Given the description of an element on the screen output the (x, y) to click on. 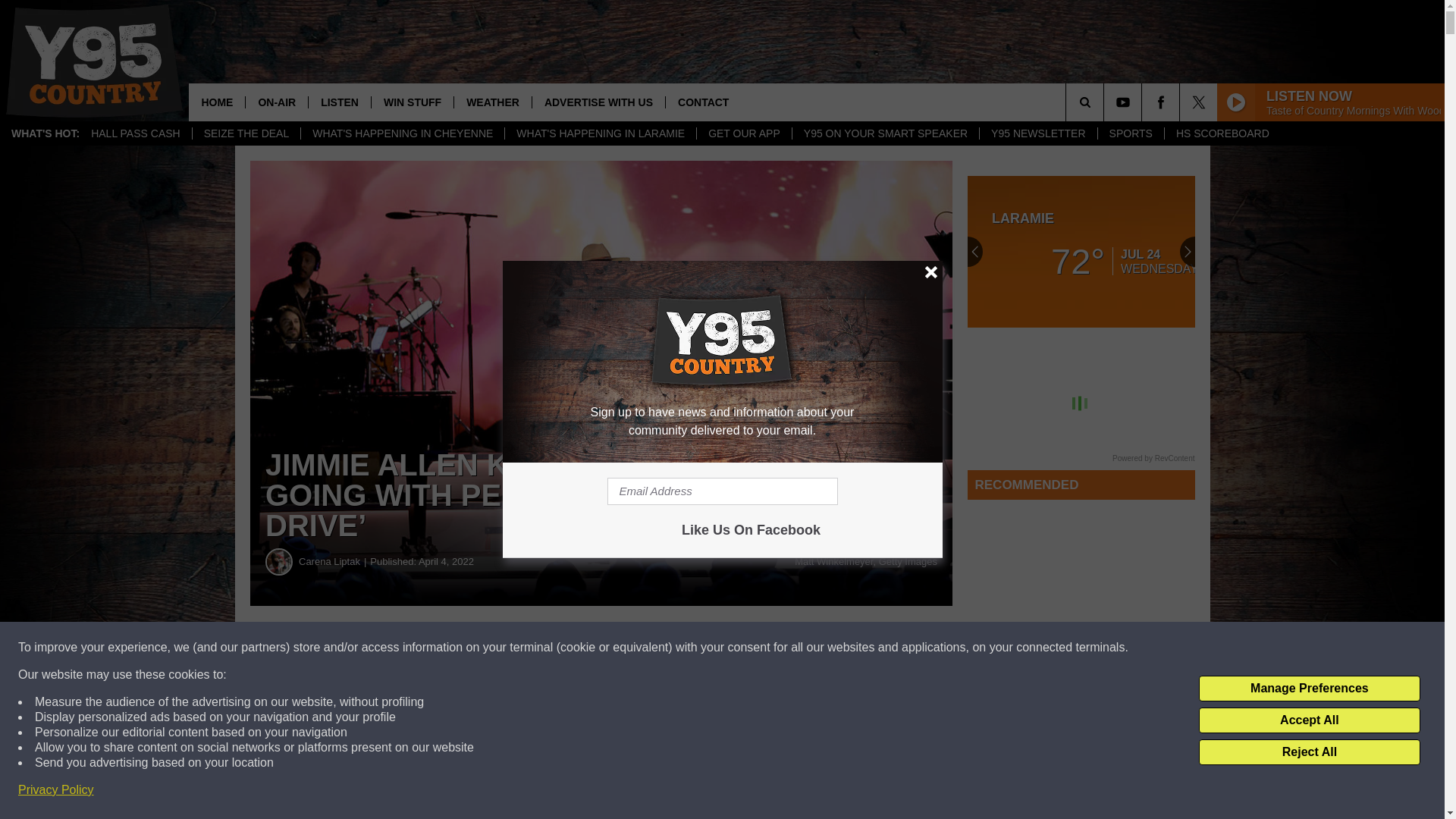
Share on Twitter (741, 647)
Email Address (722, 491)
ON-AIR (275, 102)
HALL PASS CASH (136, 133)
Laramie Weather (1081, 251)
LISTEN (339, 102)
Accept All (1309, 720)
Privacy Policy (55, 789)
WIN STUFF (411, 102)
Reject All (1309, 751)
SEIZE THE DEAL (246, 133)
Y95 NEWSLETTER (1037, 133)
WHAT'S HAPPENING IN CHEYENNE (401, 133)
Y95 ON YOUR SMART SPEAKER (885, 133)
HS SCOREBOARD (1222, 133)
